Given the description of an element on the screen output the (x, y) to click on. 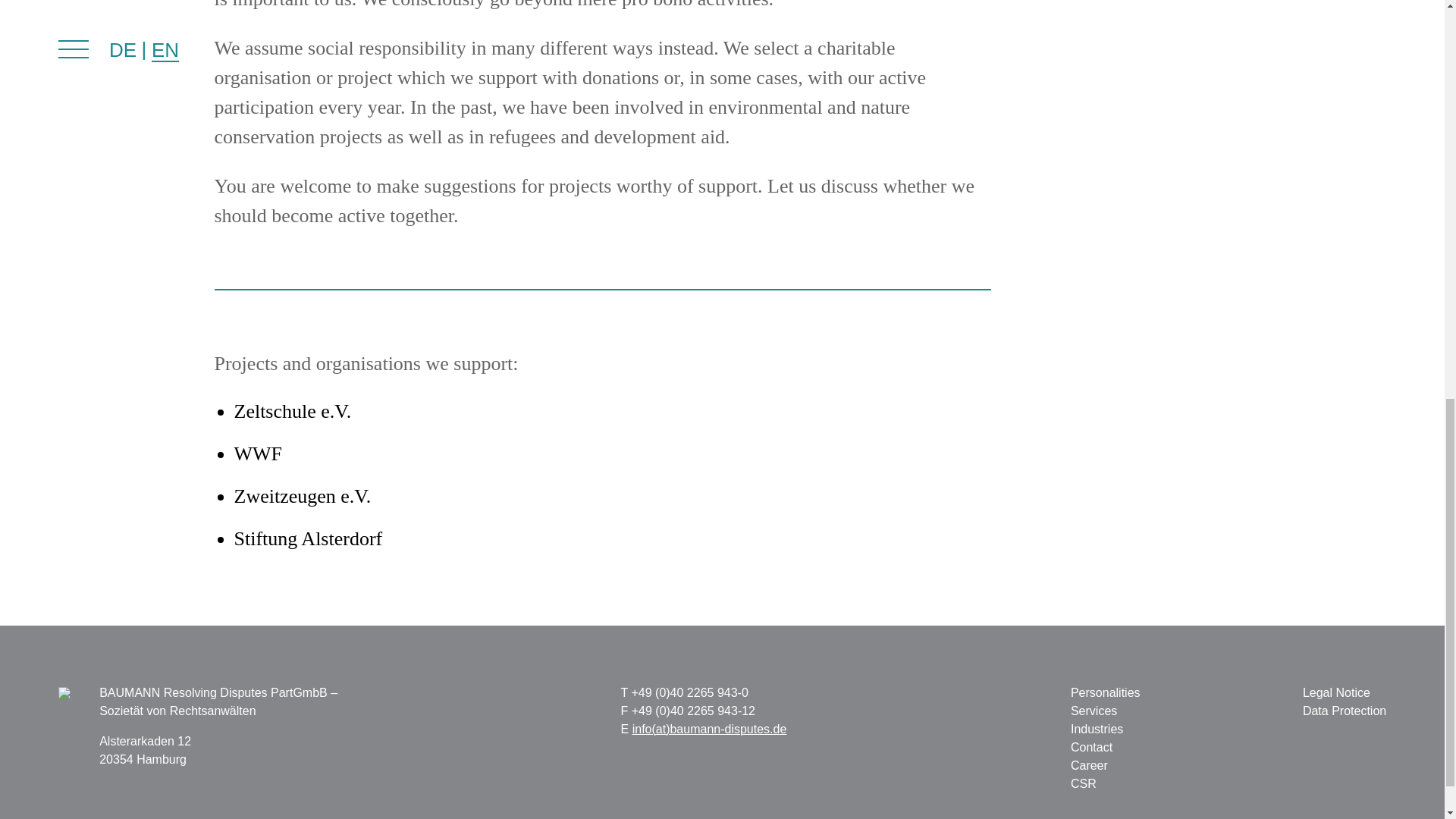
Contact (1091, 747)
Legal Notice (1336, 692)
Personalities (1105, 692)
Industries (1096, 728)
CSR (1083, 783)
Data Protection (1344, 710)
Services (1093, 710)
Career (1089, 765)
